Given the description of an element on the screen output the (x, y) to click on. 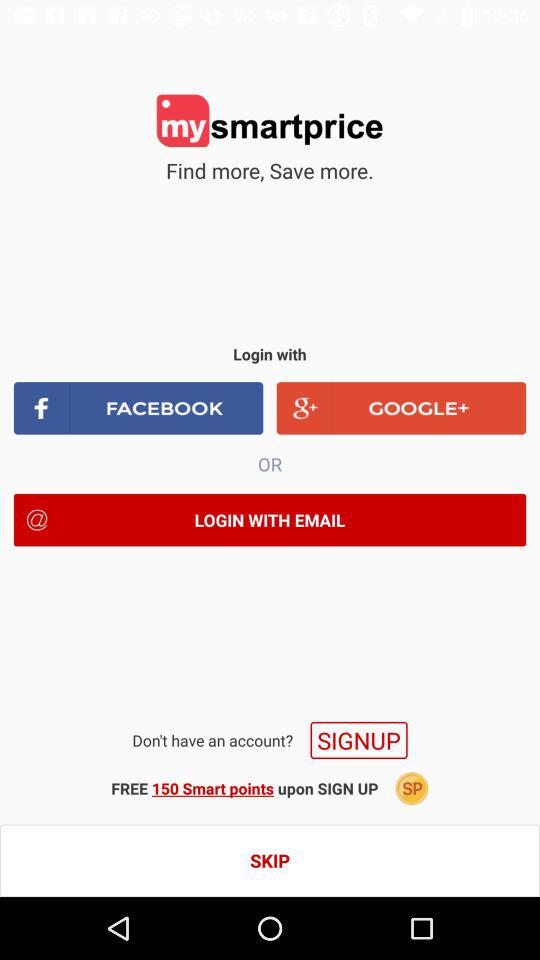
tap the item to the right of free 150 smart (411, 788)
